Given the description of an element on the screen output the (x, y) to click on. 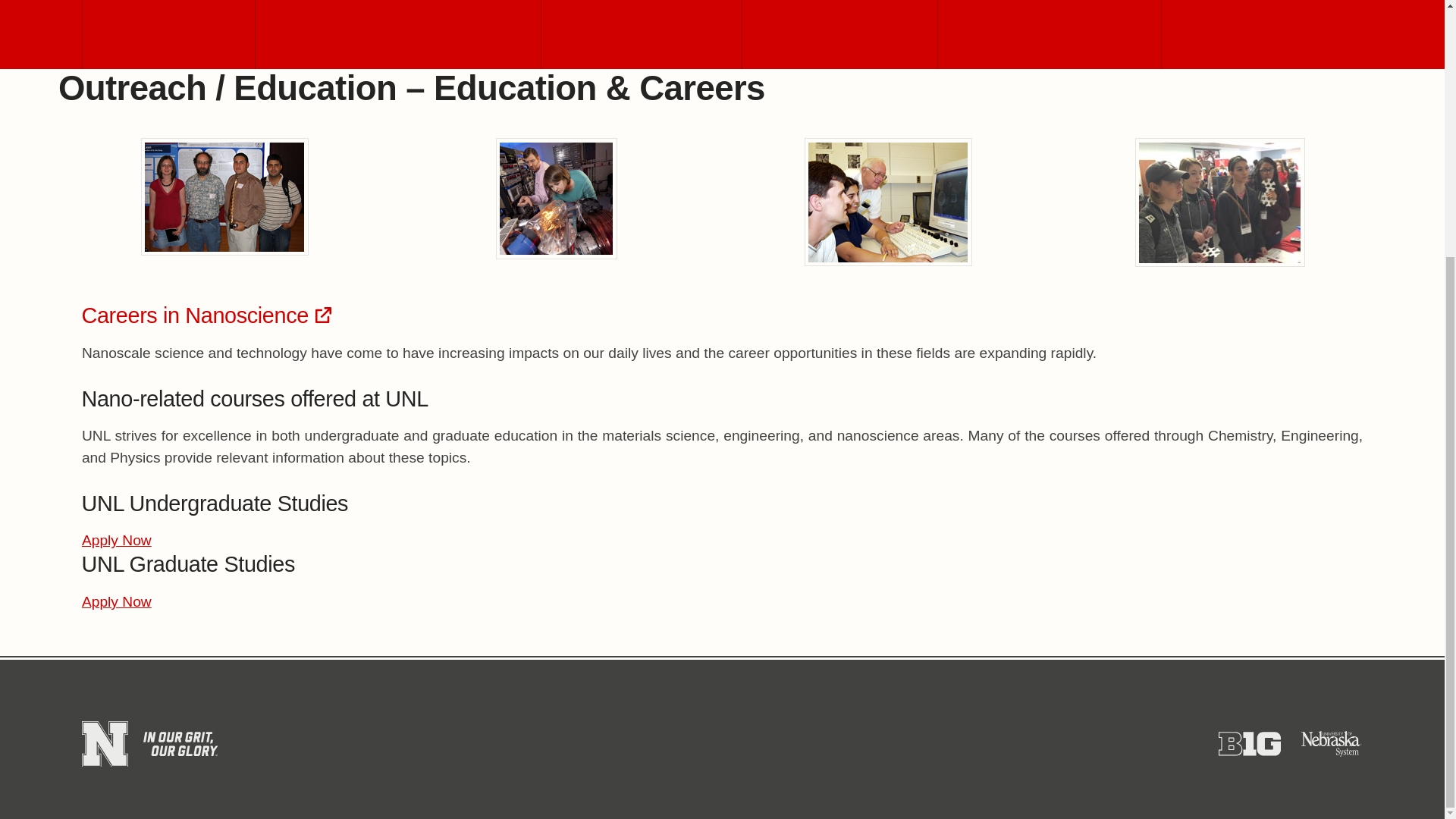
Home (167, 34)
Central Facilities (397, 34)
Research (839, 34)
Faculty (640, 34)
